Given the description of an element on the screen output the (x, y) to click on. 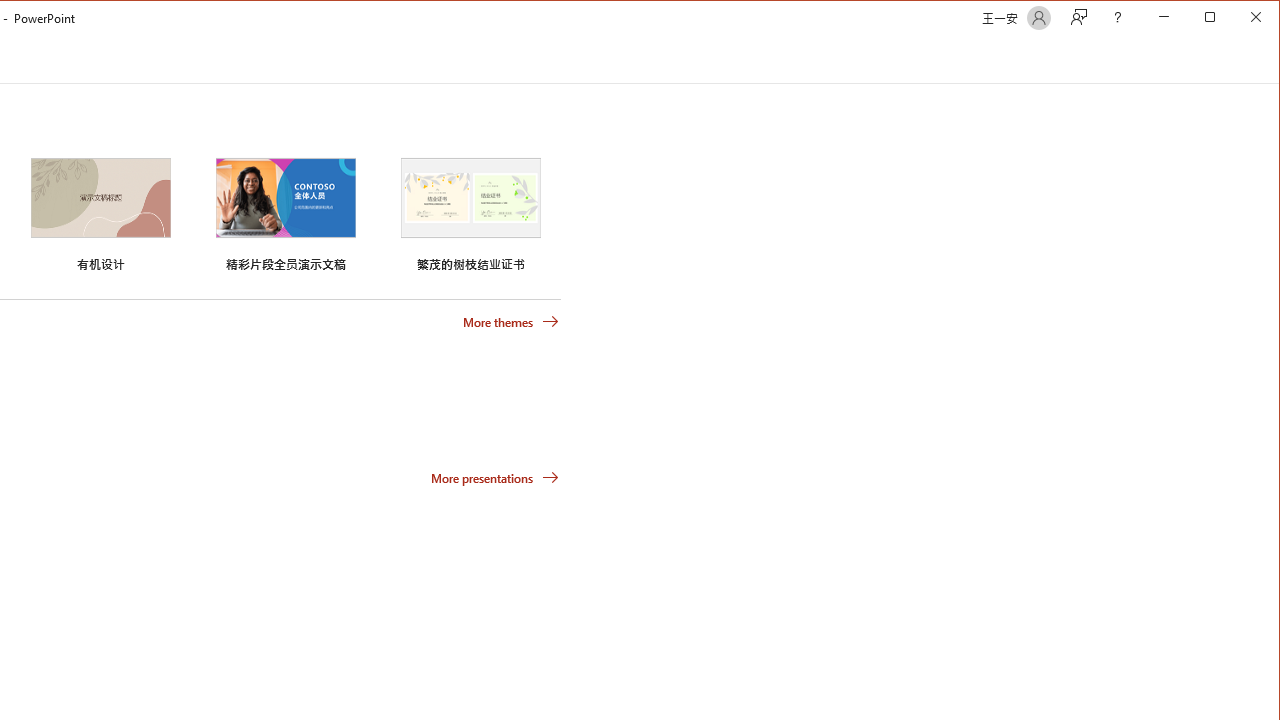
More themes (510, 321)
More presentations (494, 478)
